Given the description of an element on the screen output the (x, y) to click on. 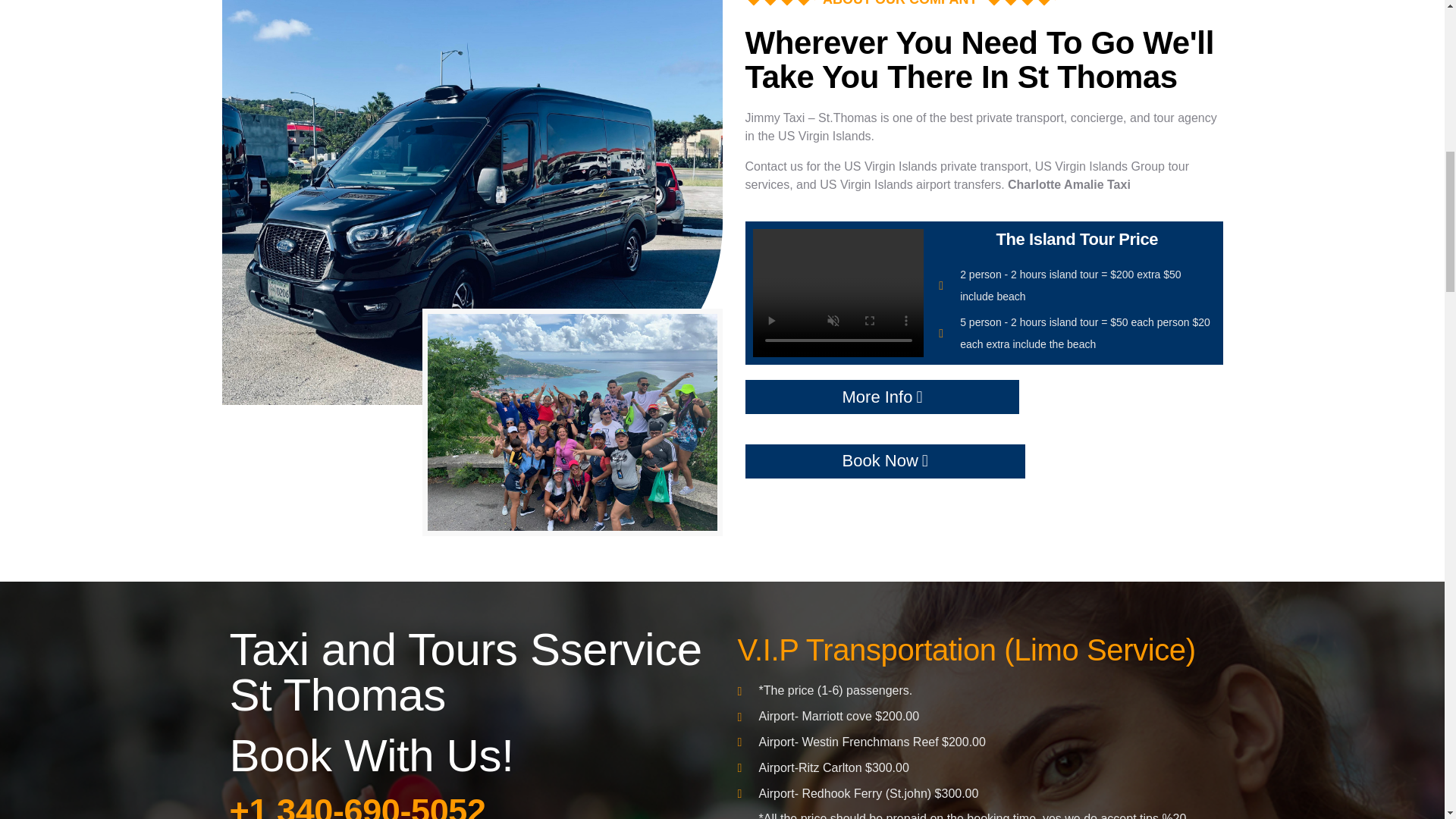
More Info (881, 397)
Book Now (884, 461)
